Given the description of an element on the screen output the (x, y) to click on. 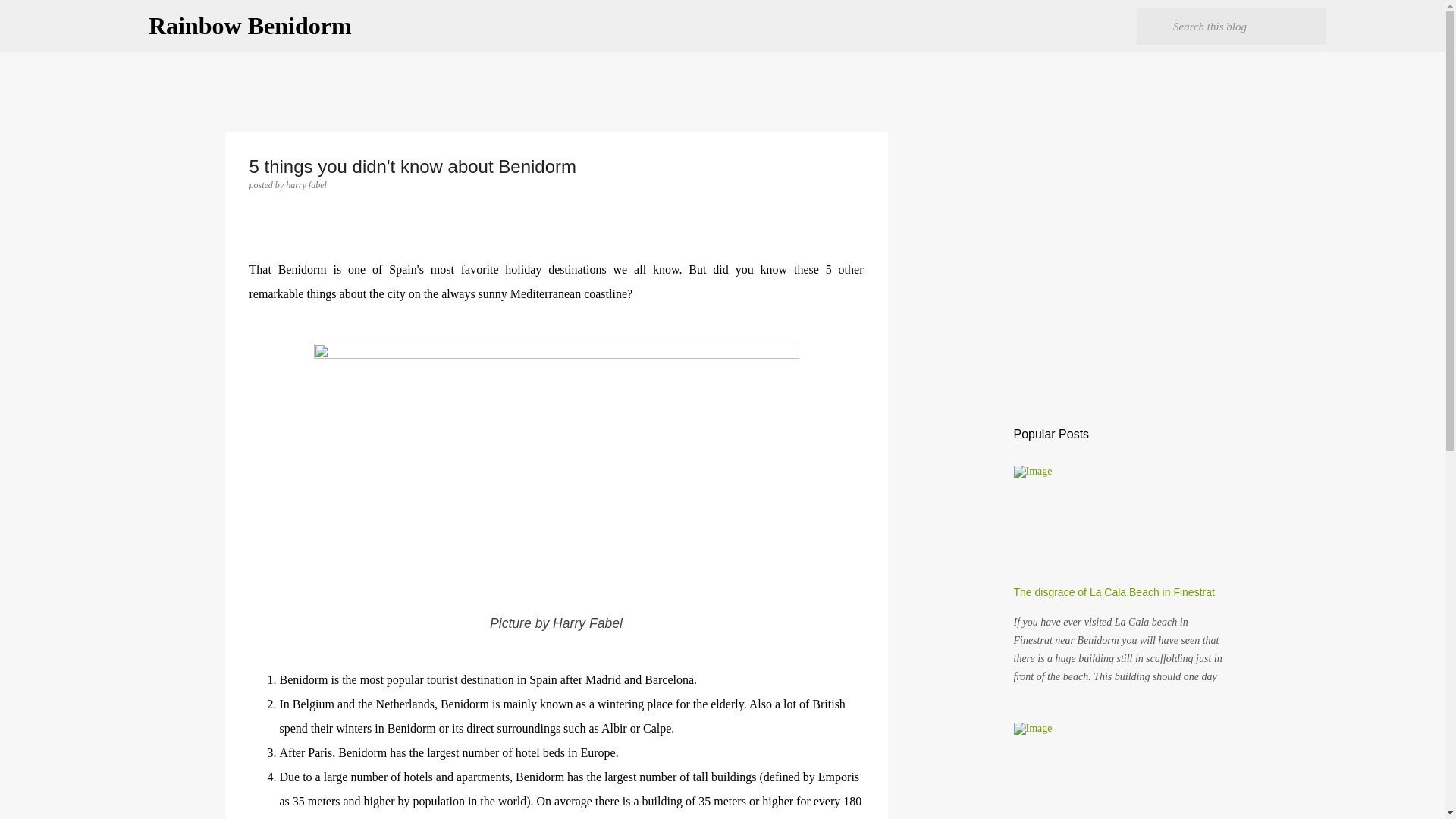
The disgrace of La Cala Beach in Finestrat (1113, 592)
Rainbow Benidorm (250, 25)
